Given the description of an element on the screen output the (x, y) to click on. 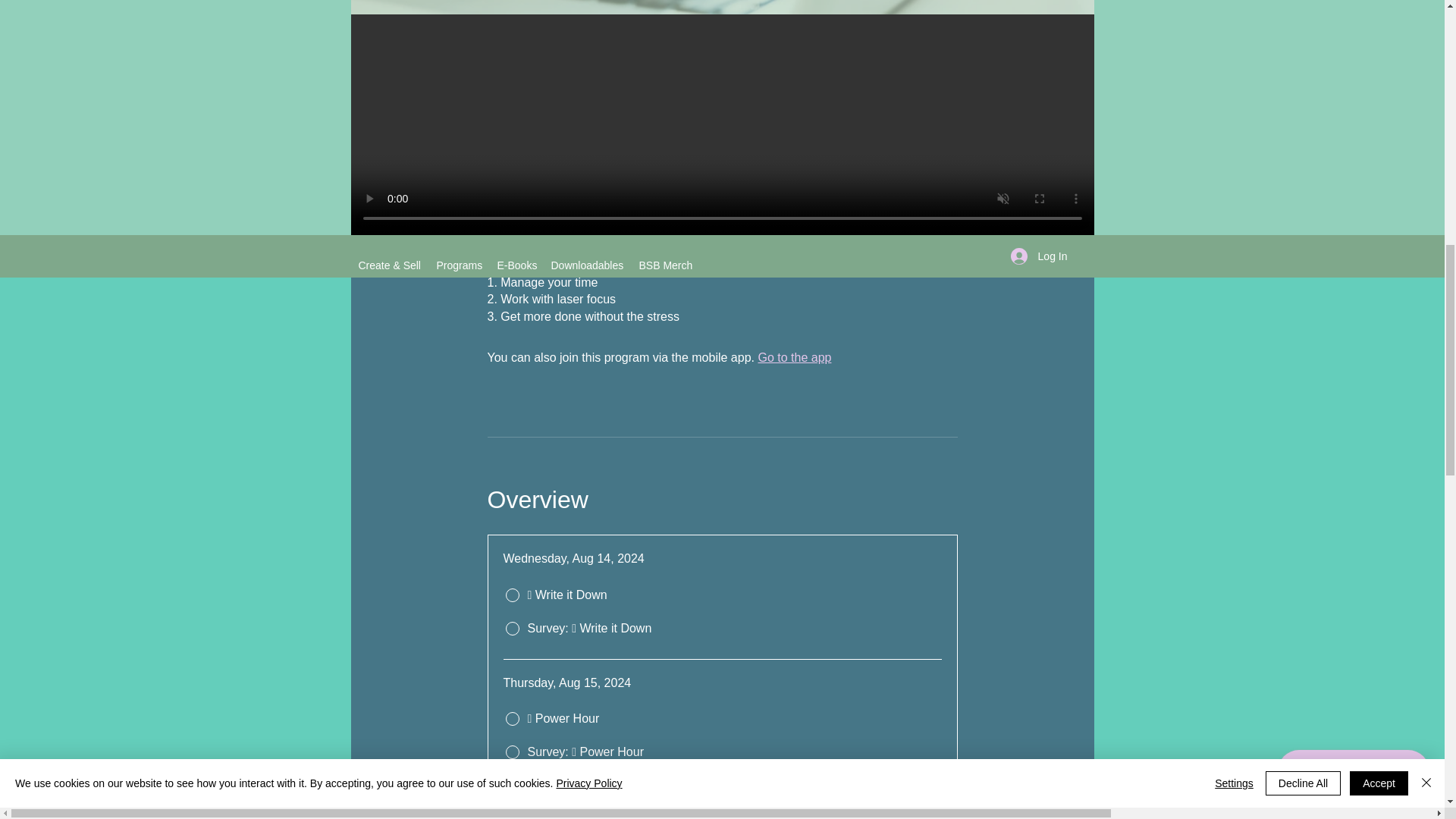
Friday, Aug 16, 2024 (722, 806)
Wednesday, Aug 14, 2024 (722, 558)
Go to the app (794, 357)
Thursday, Aug 15, 2024 (722, 682)
